Given the description of an element on the screen output the (x, y) to click on. 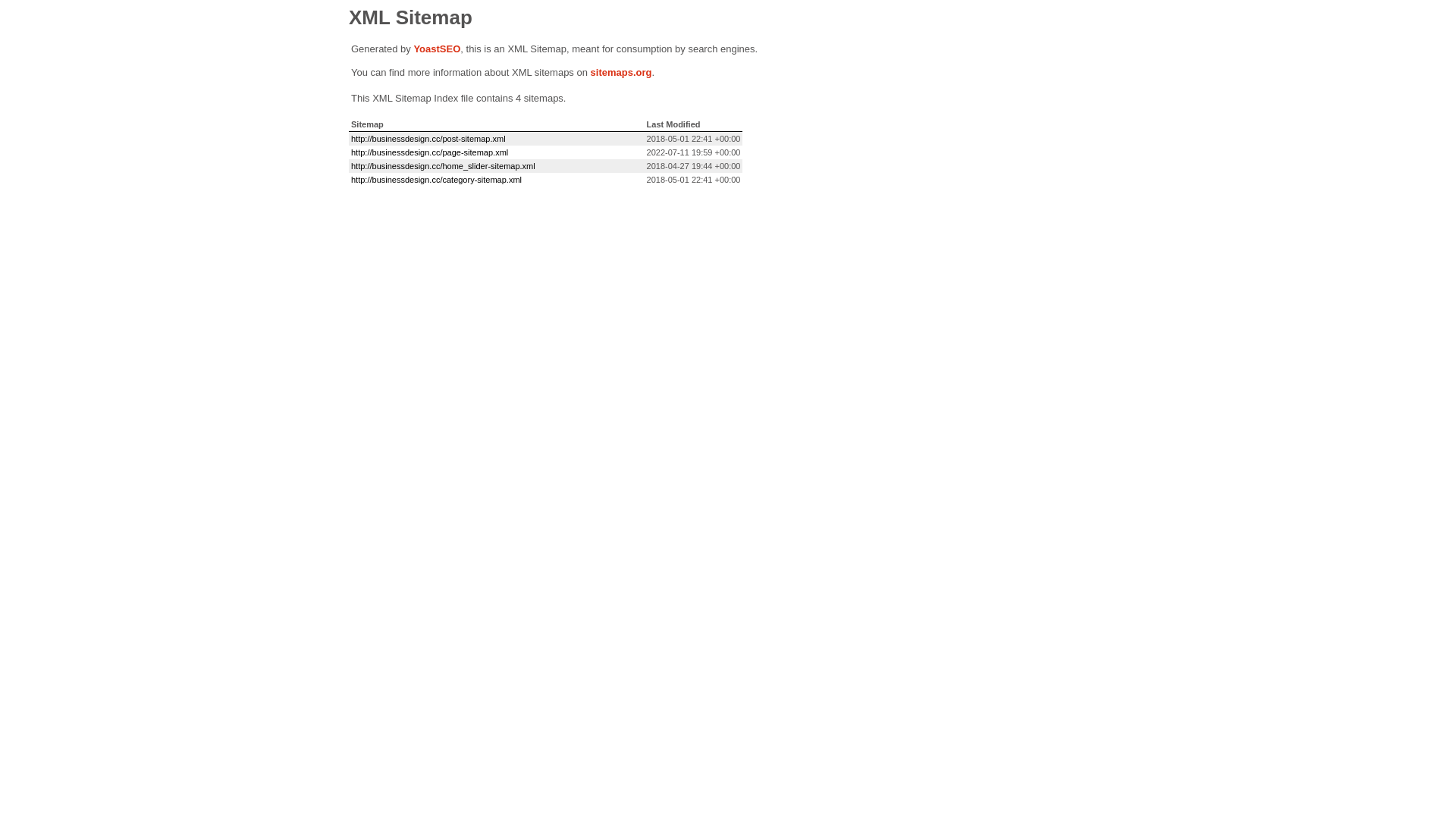
Yoast Element type: text (426, 48)
SEO Element type: text (449, 48)
http://businessdesign.cc/page-sitemap.xml Element type: text (429, 151)
http://businessdesign.cc/home_slider-sitemap.xml Element type: text (443, 165)
http://businessdesign.cc/post-sitemap.xml Element type: text (428, 138)
http://businessdesign.cc/category-sitemap.xml Element type: text (436, 179)
sitemaps.org Element type: text (621, 72)
